Given the description of an element on the screen output the (x, y) to click on. 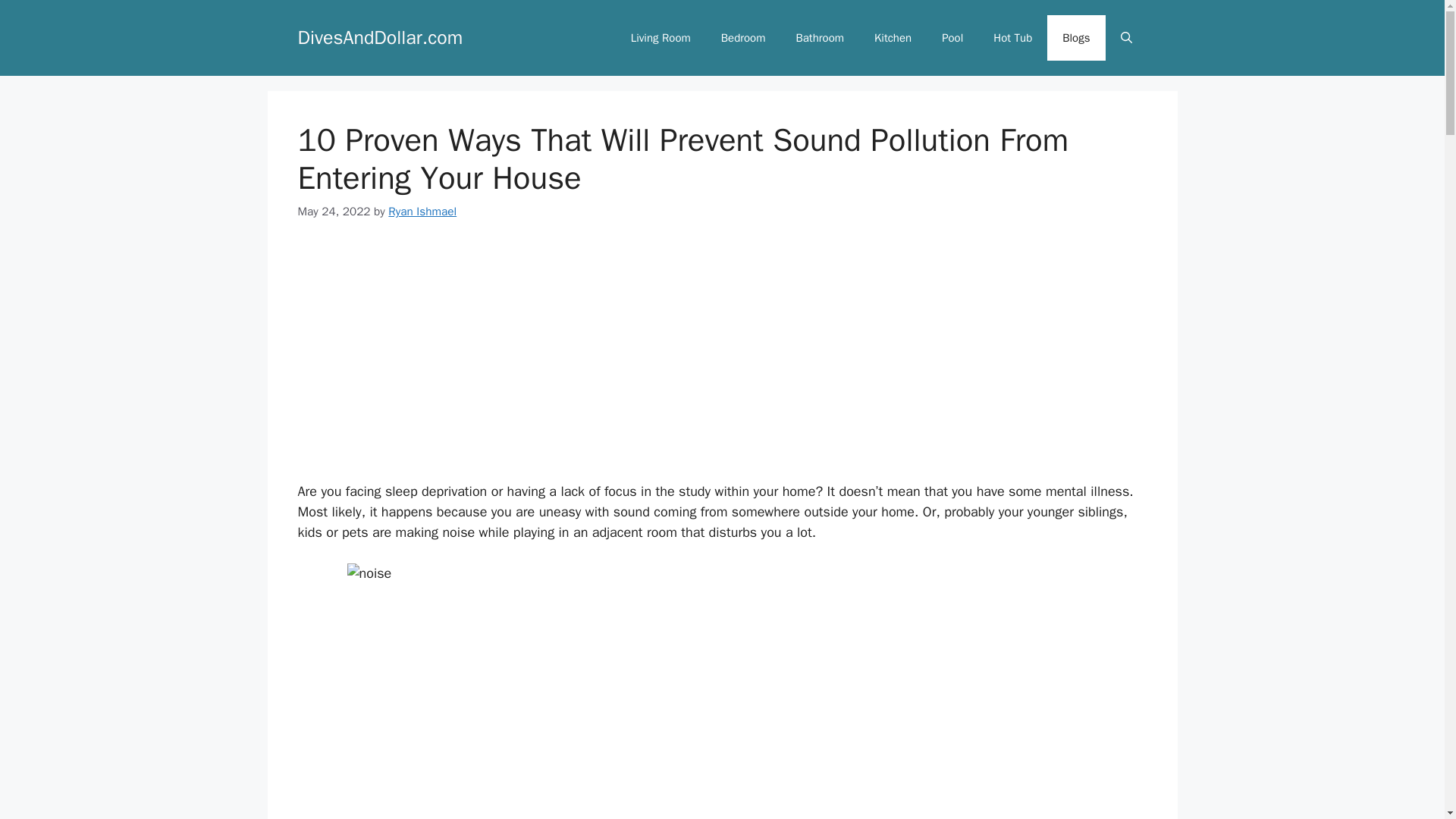
Pool (952, 37)
Bedroom (743, 37)
Ryan Ishmael (422, 211)
Living Room (660, 37)
Hot Tub (1012, 37)
Blogs (1075, 37)
DivesAndDollar.com (380, 37)
Bathroom (820, 37)
Kitchen (892, 37)
View all posts by Ryan Ishmael (422, 211)
